Given the description of an element on the screen output the (x, y) to click on. 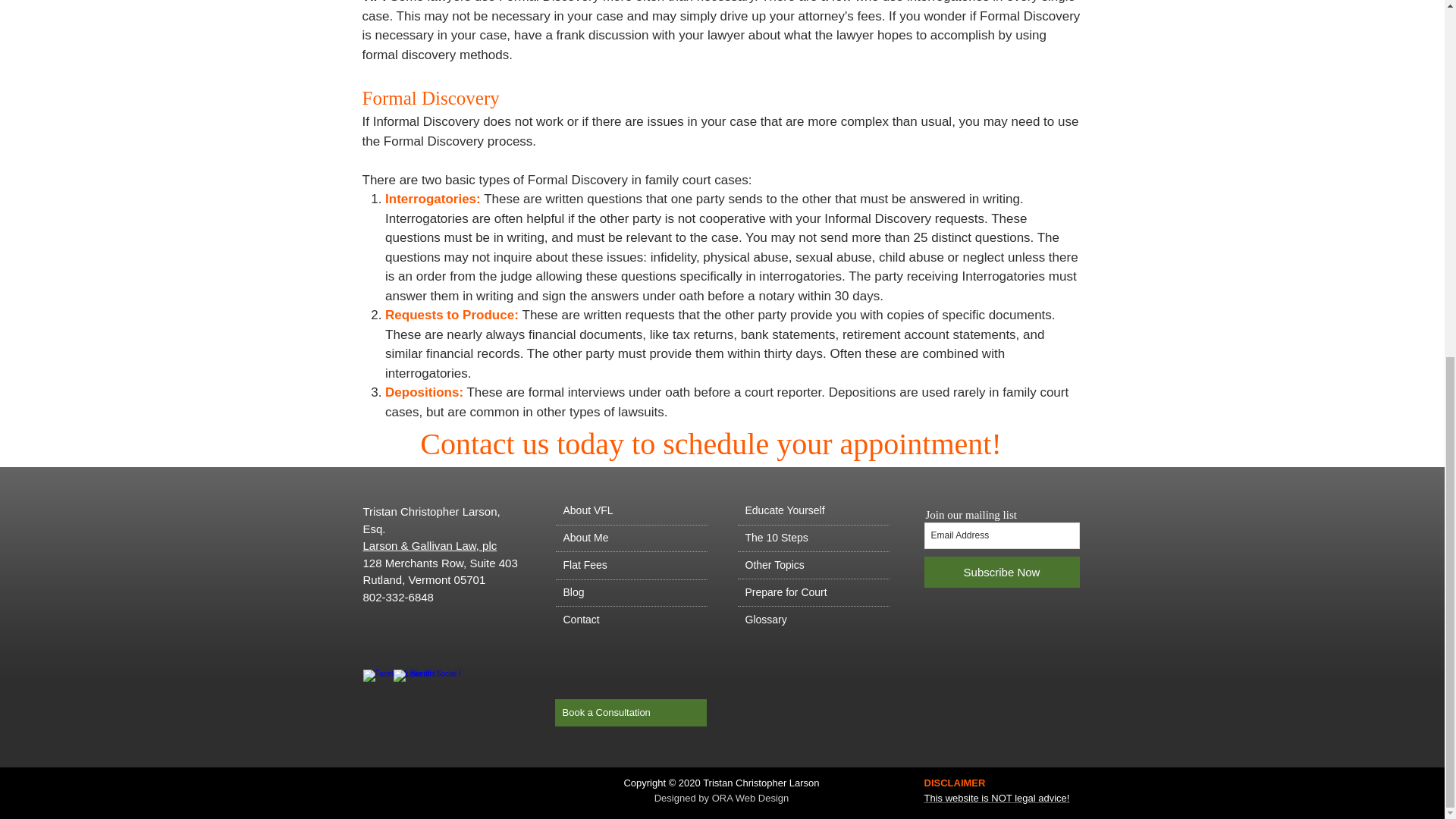
About VFL (630, 510)
Blog (630, 592)
Flat Fees (630, 565)
Educate Yourself (812, 510)
Contact us today to schedule your appointment! (710, 443)
About Me (630, 538)
Contact (630, 619)
